Given the description of an element on the screen output the (x, y) to click on. 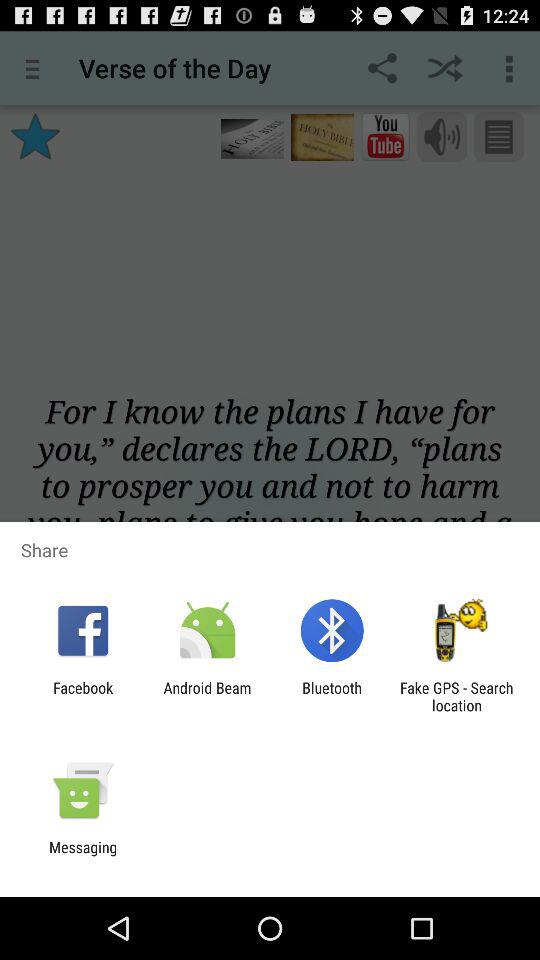
turn on fake gps search at the bottom right corner (456, 696)
